Given the description of an element on the screen output the (x, y) to click on. 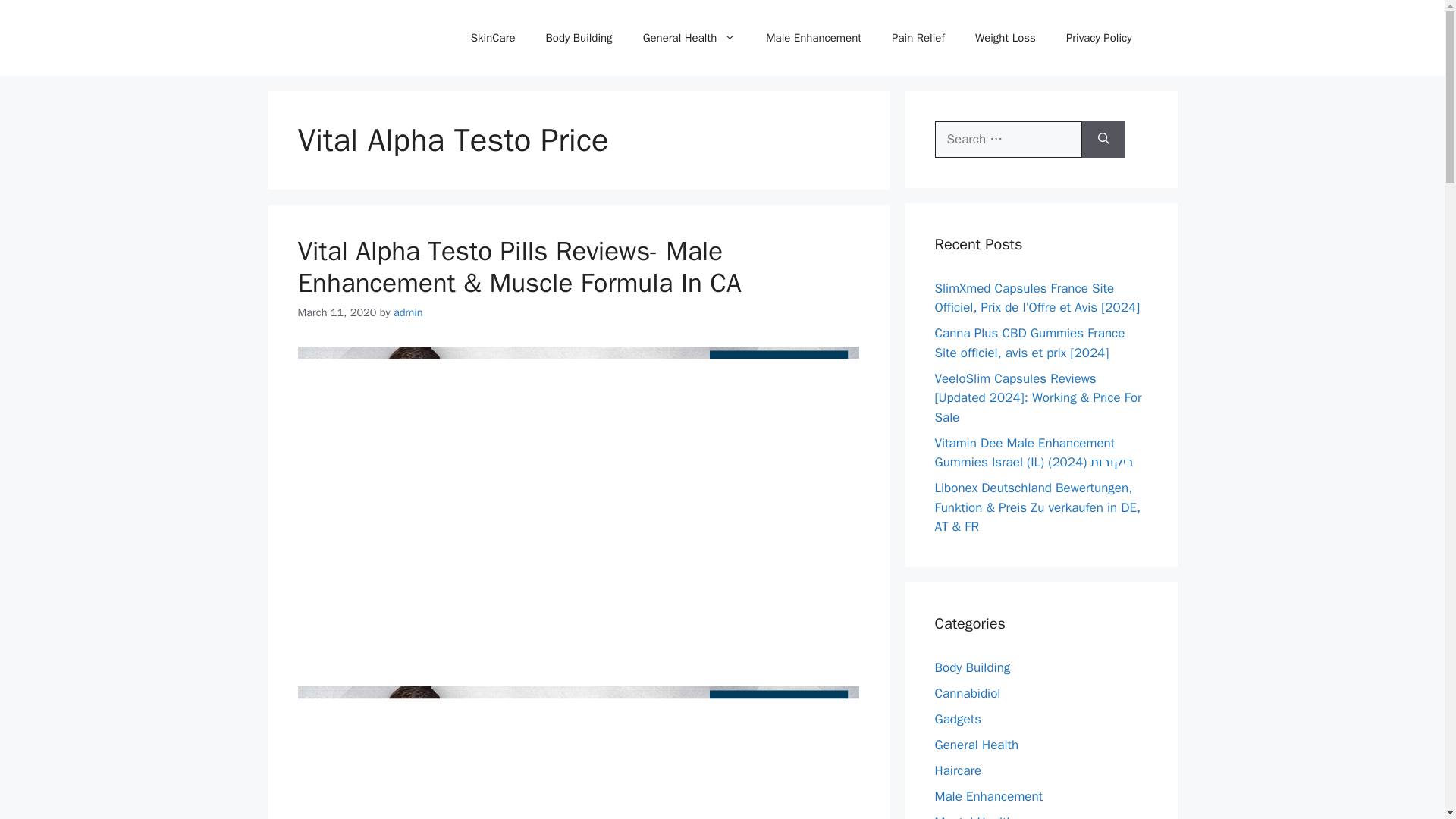
admin (408, 312)
Privacy Policy (1099, 37)
Weight Loss (1005, 37)
Gadgets (956, 719)
Male Enhancement (988, 796)
Body Building (579, 37)
Haircare (957, 770)
Cannabidiol (967, 693)
General Health (975, 744)
Male Enhancement (813, 37)
